Given the description of an element on the screen output the (x, y) to click on. 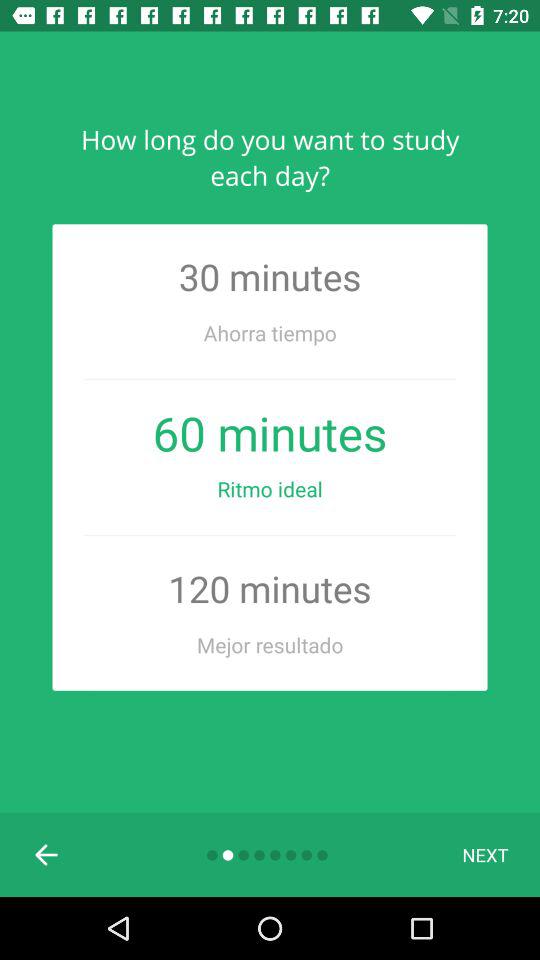
go to previous slide (47, 855)
